Given the description of an element on the screen output the (x, y) to click on. 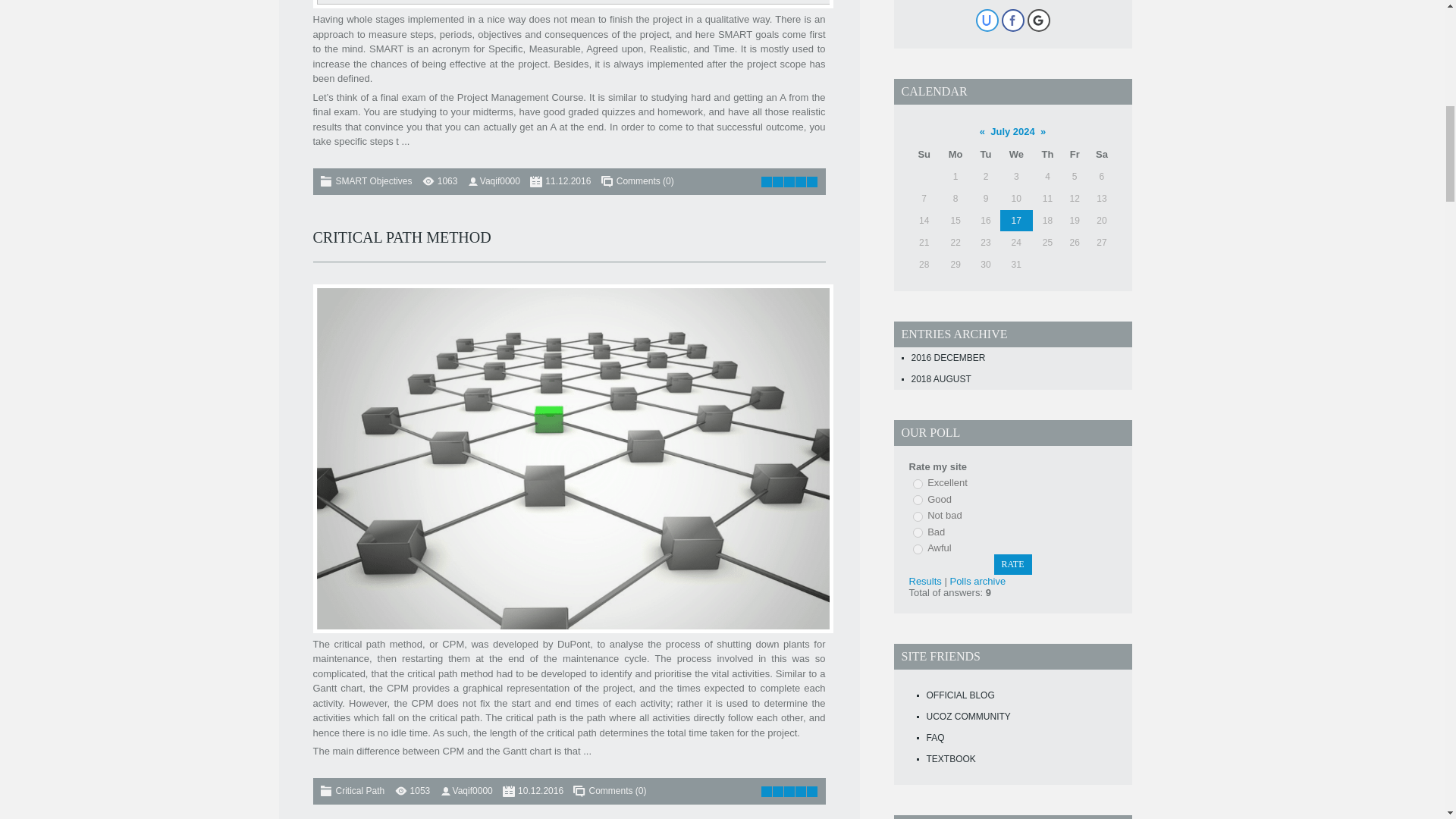
Rate (1011, 564)
2 (917, 500)
3 (917, 516)
14:37 (567, 181)
5 (917, 549)
4 (917, 532)
01:17 (540, 790)
CRITICAL PATH METHOD (401, 237)
SMART Objectives (373, 181)
1 (917, 483)
Vaqif0000 (499, 181)
Critical Path (359, 790)
Vaqif0000 (472, 790)
